Given the description of an element on the screen output the (x, y) to click on. 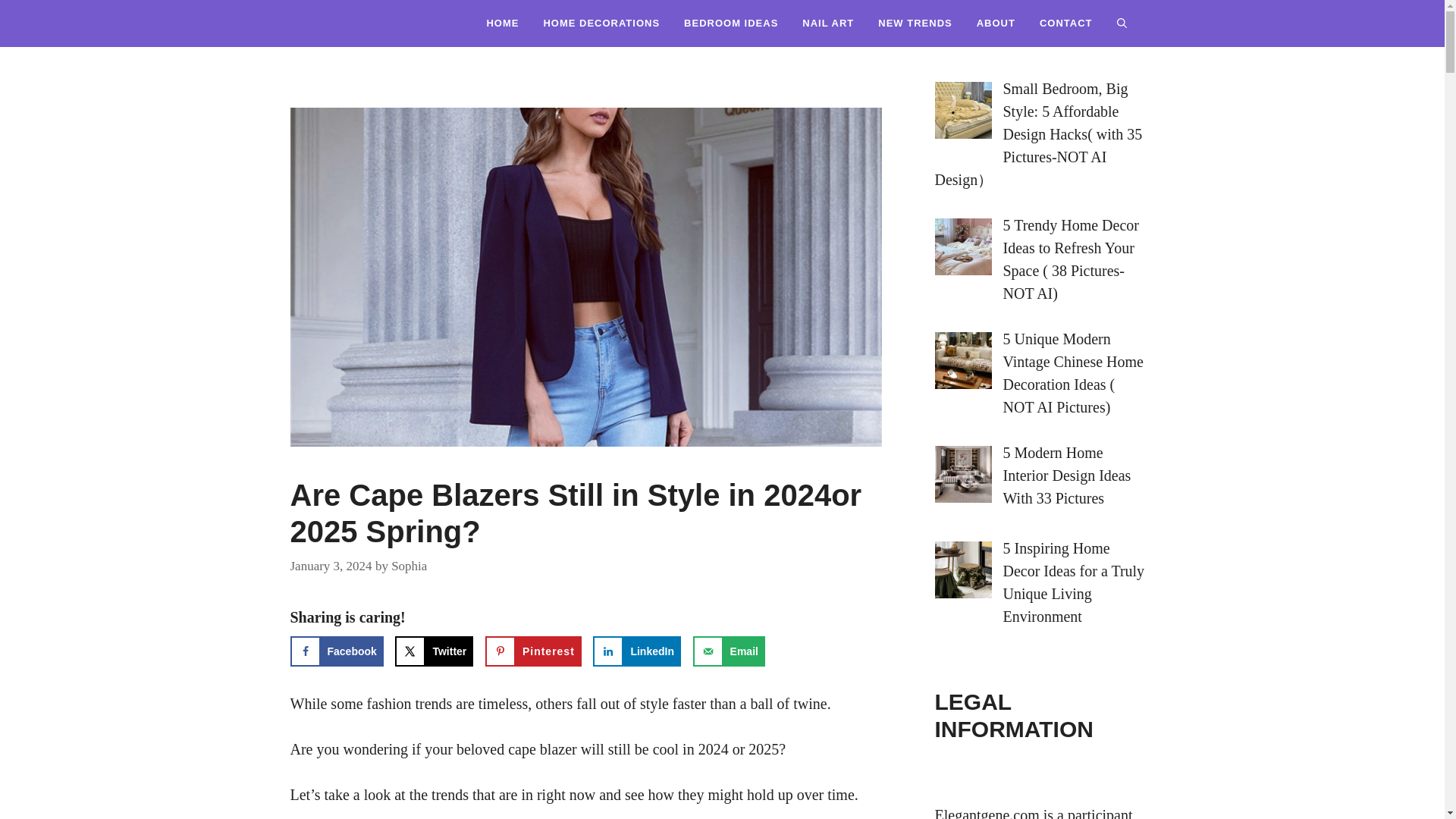
Email (729, 651)
HOME DECORATIONS (601, 22)
ABOUT (995, 22)
5 Modern Home Interior Design Ideas With 33 Pictures (1067, 475)
BEDROOM IDEAS (730, 22)
Share on LinkedIn (636, 651)
Facebook (335, 651)
NEW TRENDS (914, 22)
Save to Pinterest (532, 651)
View all posts by Sophia (408, 565)
